Given the description of an element on the screen output the (x, y) to click on. 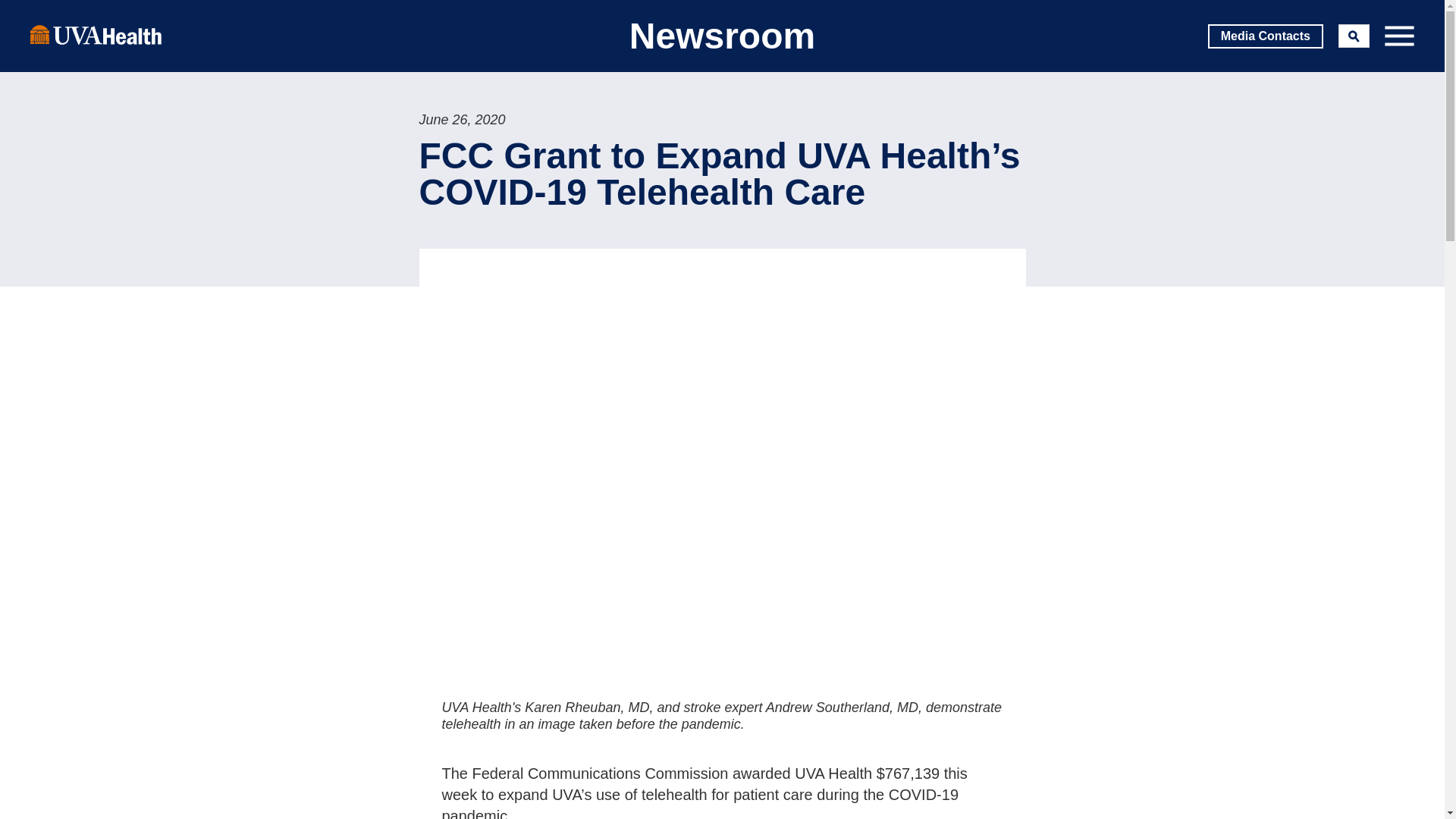
Media Contacts (1265, 36)
UVA Health logo of UVA Health (95, 34)
menu toggle (1398, 36)
Newsroom (722, 35)
Search Toggle (1354, 35)
